Given the description of an element on the screen output the (x, y) to click on. 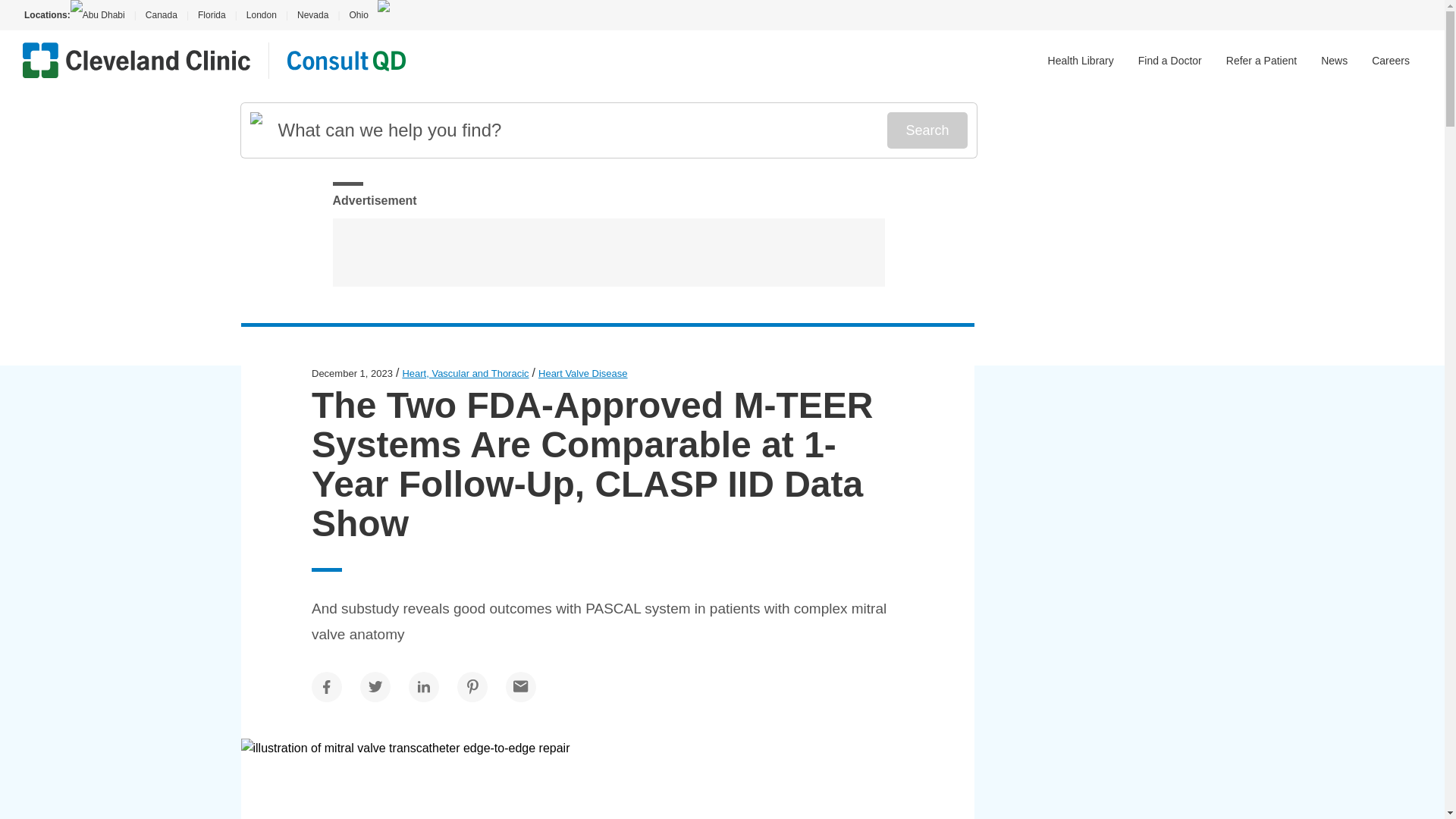
Ohio (358, 15)
Abu Dhabi (101, 15)
Canada (161, 15)
Nevada (312, 15)
Florida (211, 15)
Find a Doctor (1170, 60)
London (261, 15)
Health Library (1080, 60)
News (1334, 60)
Careers (1390, 60)
Heart, Vascular and Thoracic (464, 373)
Refer a Patient (1261, 60)
Heart Valve Disease (582, 373)
